Given the description of an element on the screen output the (x, y) to click on. 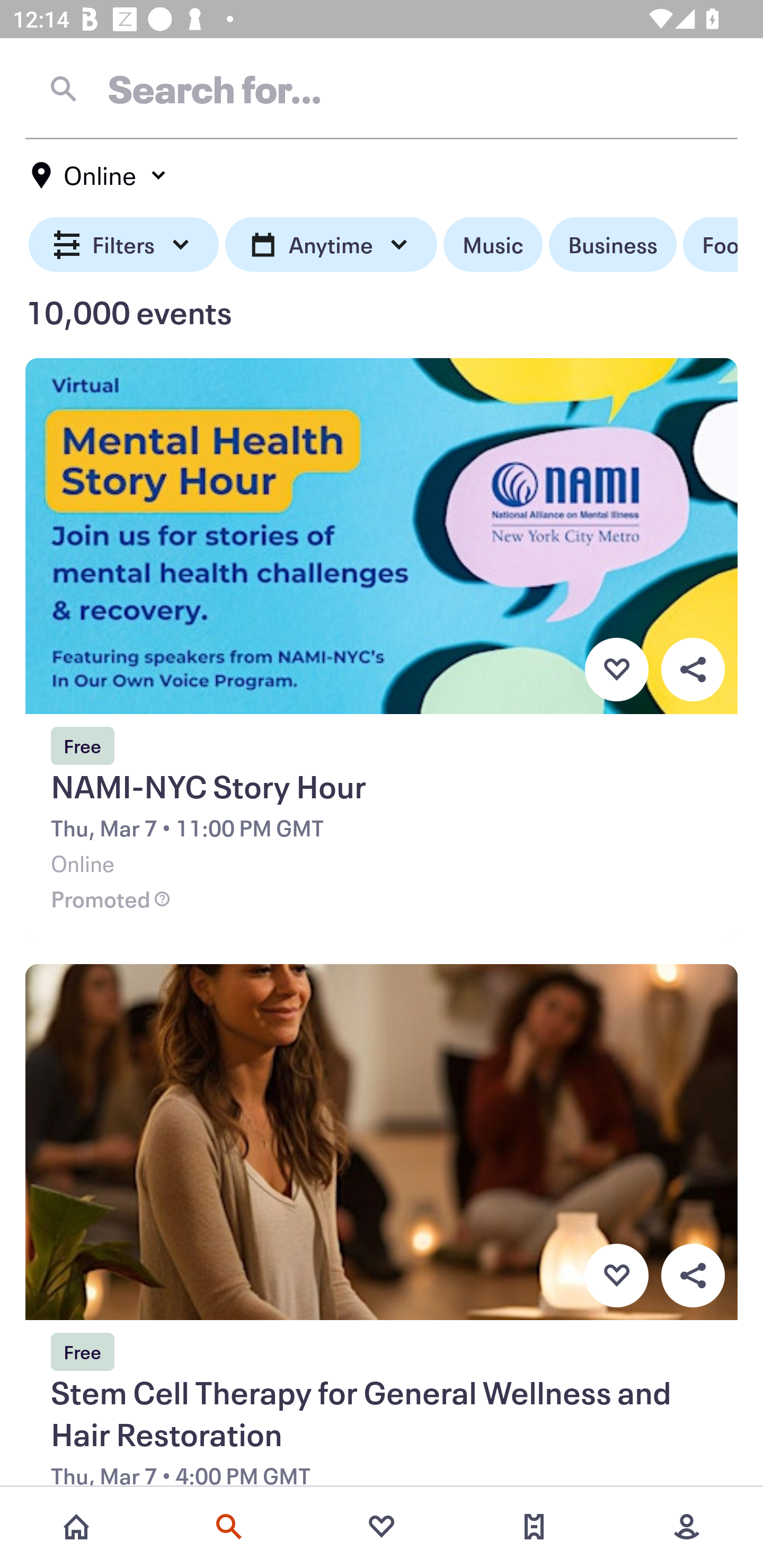
Search for… (381, 88)
Online (99, 175)
Filters (123, 244)
Anytime (331, 244)
Music (492, 244)
Business (612, 244)
Favorite button (616, 669)
Overflow menu button (692, 669)
Favorite button (616, 1275)
Overflow menu button (692, 1275)
Home (76, 1526)
Search events (228, 1526)
Favorites (381, 1526)
Tickets (533, 1526)
More (686, 1526)
